Given the description of an element on the screen output the (x, y) to click on. 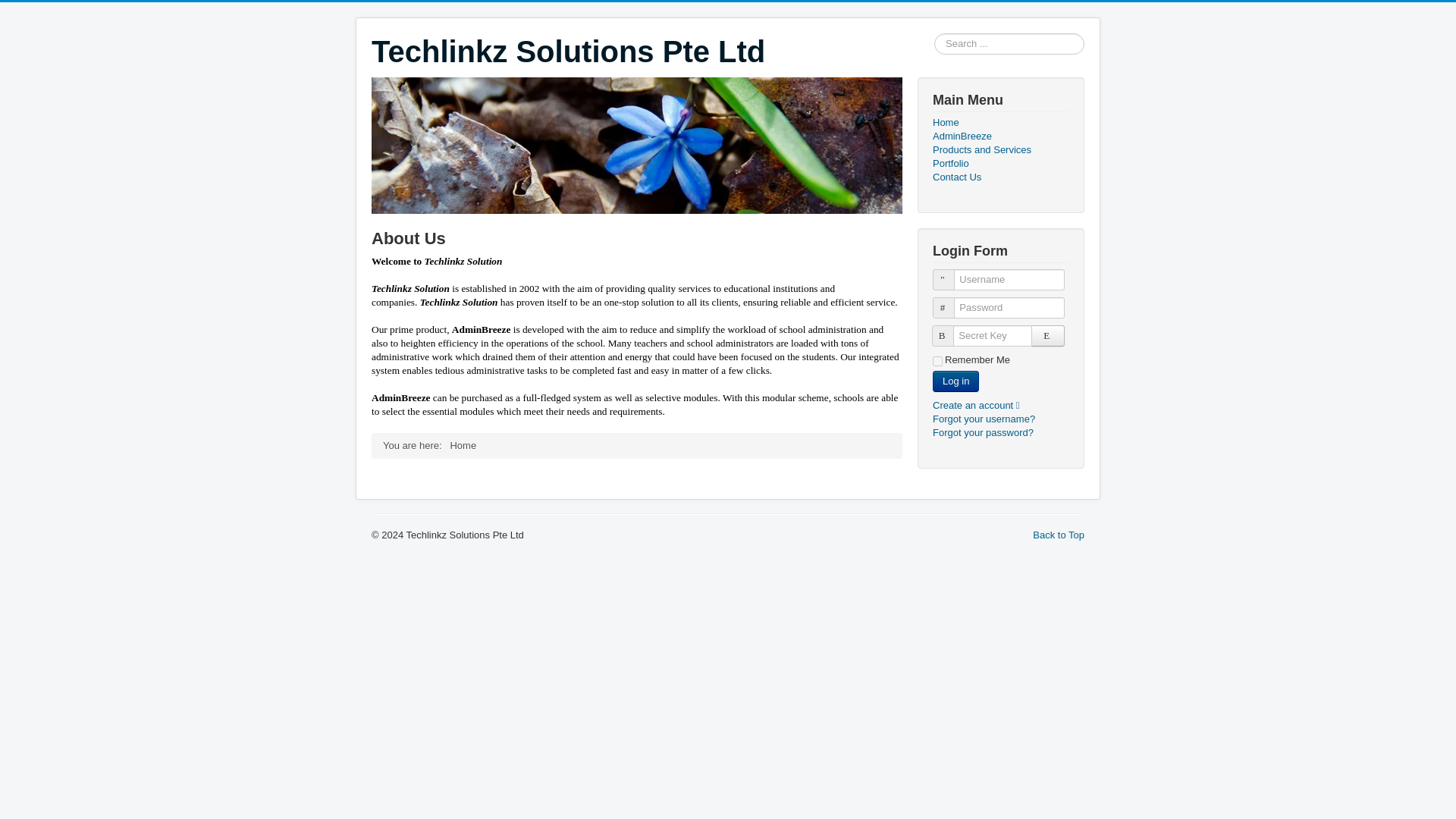
Back to Top (1058, 534)
AdminBreeze (1000, 136)
Create an account (981, 405)
Forgot your username? (984, 419)
yes (937, 361)
Products and Services (1000, 150)
Techlinkz Solutions Pte Ltd (568, 51)
Home (1000, 122)
Portfolio (1000, 163)
Log in (955, 381)
Techlinkz Solutions Pte Ltd (568, 51)
Contact Us (1000, 177)
Forgot your password? (983, 432)
